Given the description of an element on the screen output the (x, y) to click on. 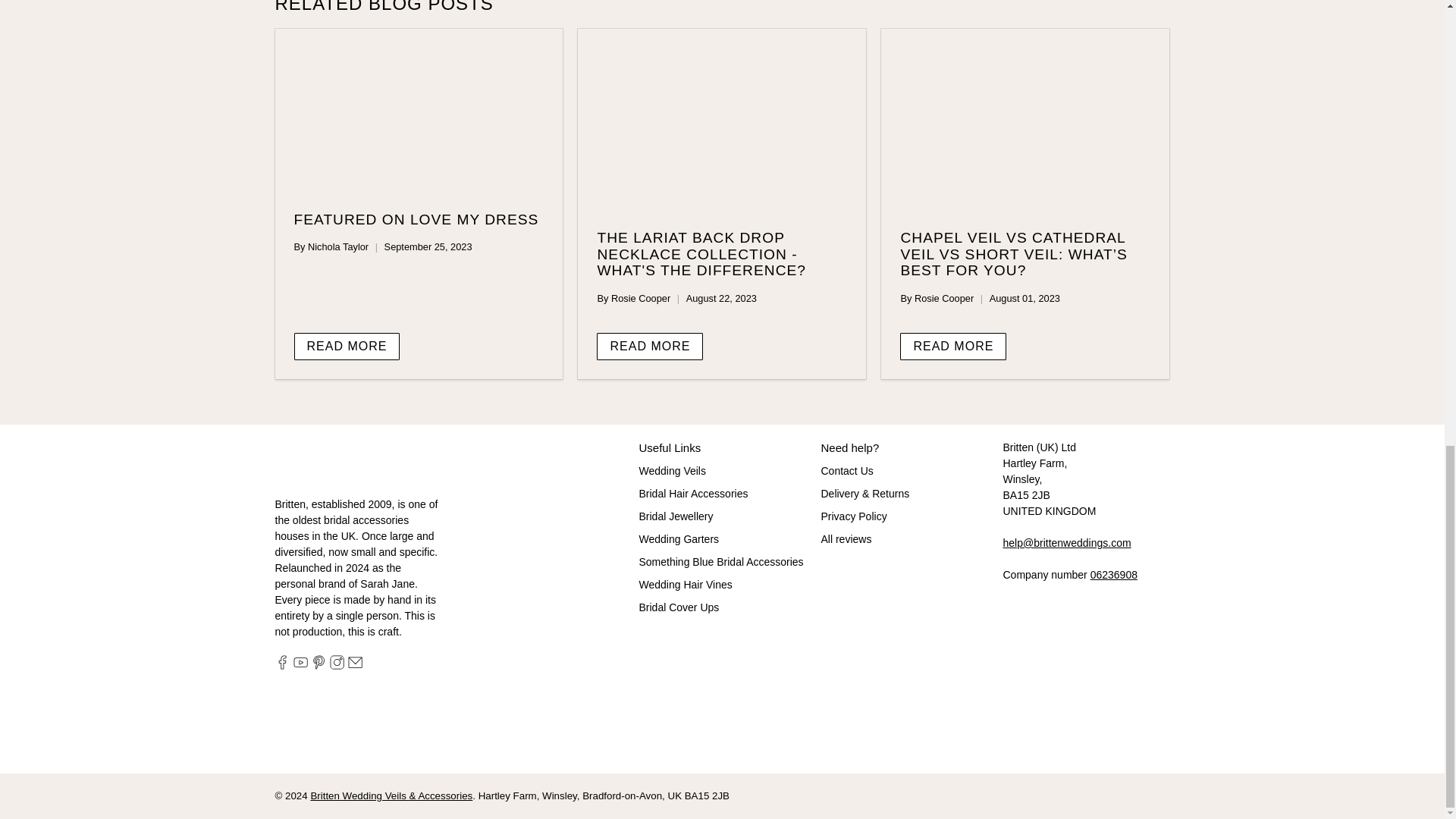
Featured on Love My Dress (419, 111)
Get in touch with Britten (1067, 542)
Featured on Love My Dress (416, 219)
